Given the description of an element on the screen output the (x, y) to click on. 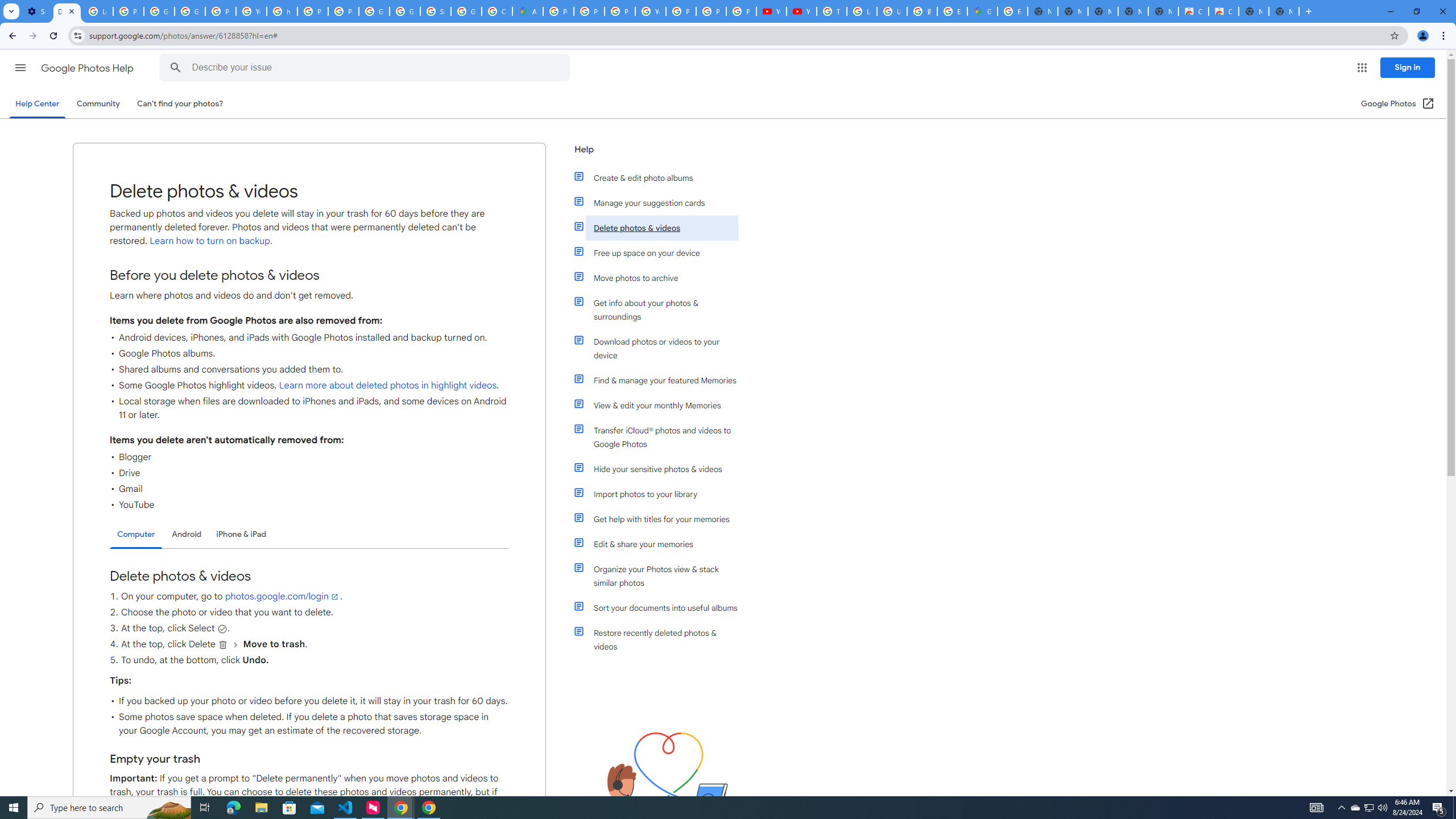
Delete (223, 644)
and then (235, 644)
Google Maps (982, 11)
YouTube (650, 11)
Classic Blue - Chrome Web Store (1193, 11)
Google Account Help (158, 11)
Classic Blue - Chrome Web Store (1223, 11)
https://scholar.google.com/ (282, 11)
Explore new street-level details - Google Maps Help (951, 11)
